Given the description of an element on the screen output the (x, y) to click on. 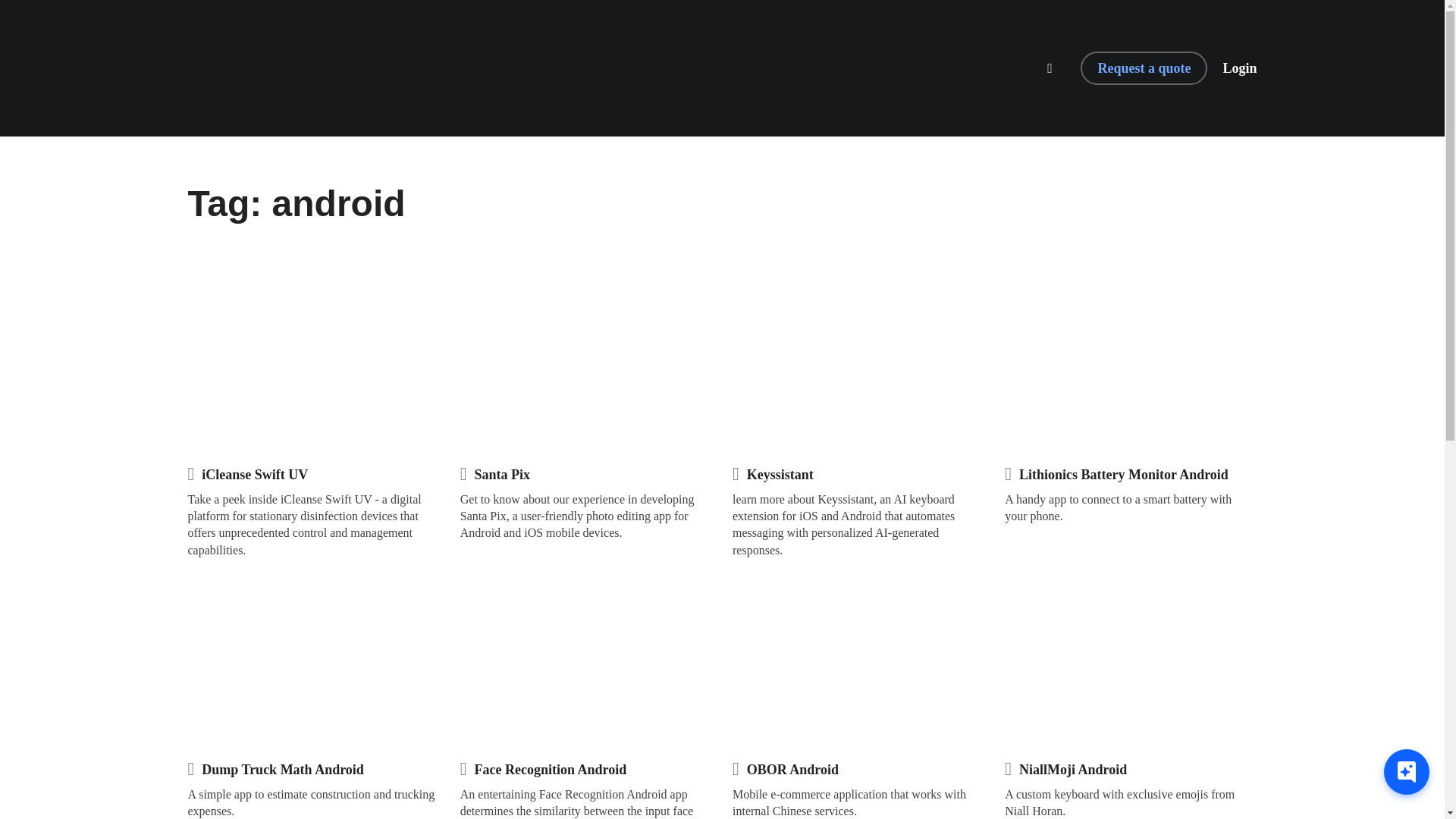
Lithionics Battery Monitor Android (1123, 475)
Santa Pix (502, 475)
iCleanse Swift UV (254, 475)
Dump Truck Math Android (283, 770)
Request a quote (1143, 68)
Face Recognition Android (550, 770)
NiallMoji Android (1072, 770)
OBOR Android (792, 770)
Keyssistant (779, 475)
Login (1239, 68)
